Given the description of an element on the screen output the (x, y) to click on. 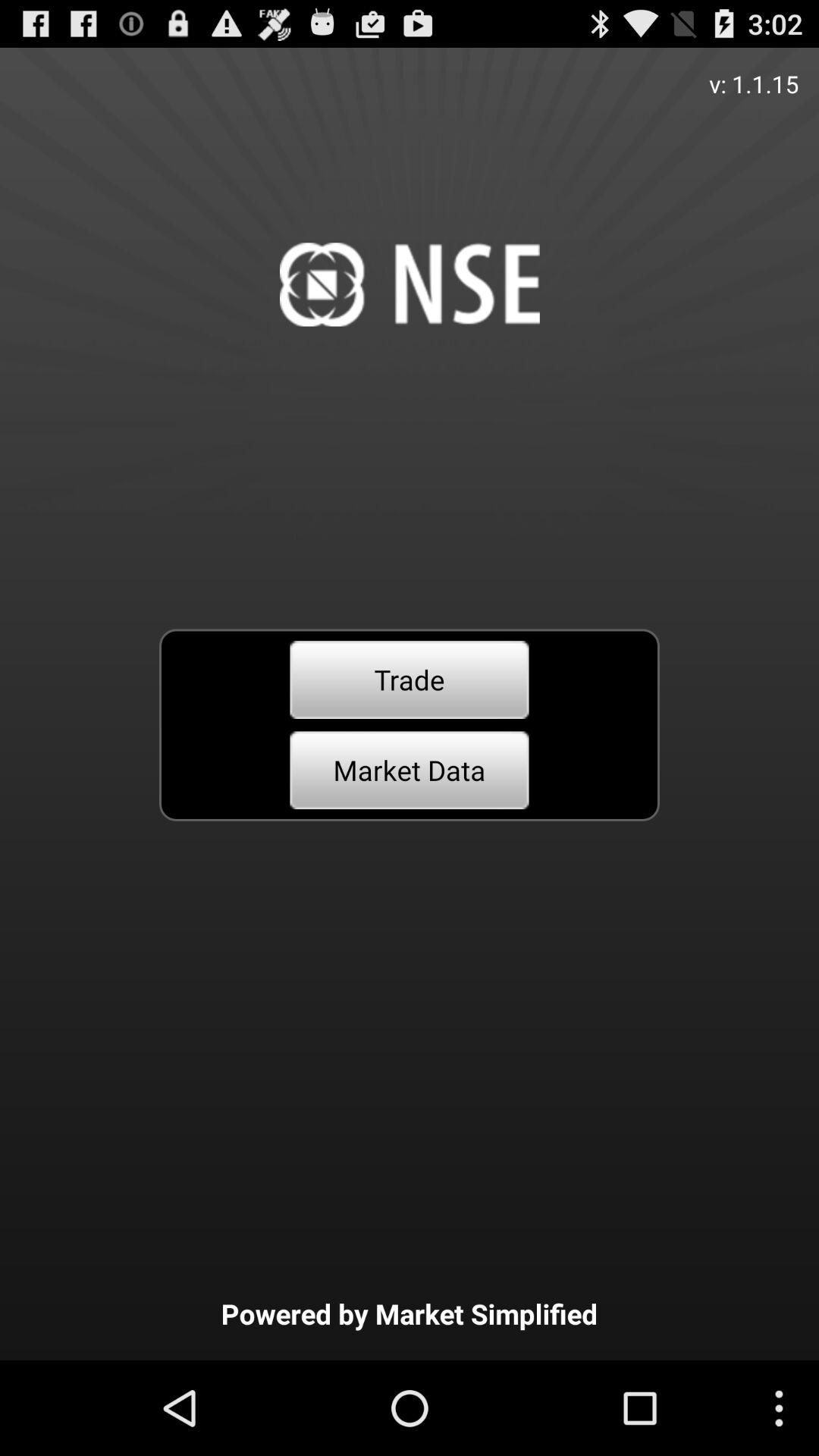
open the item above powered by market icon (409, 770)
